Given the description of an element on the screen output the (x, y) to click on. 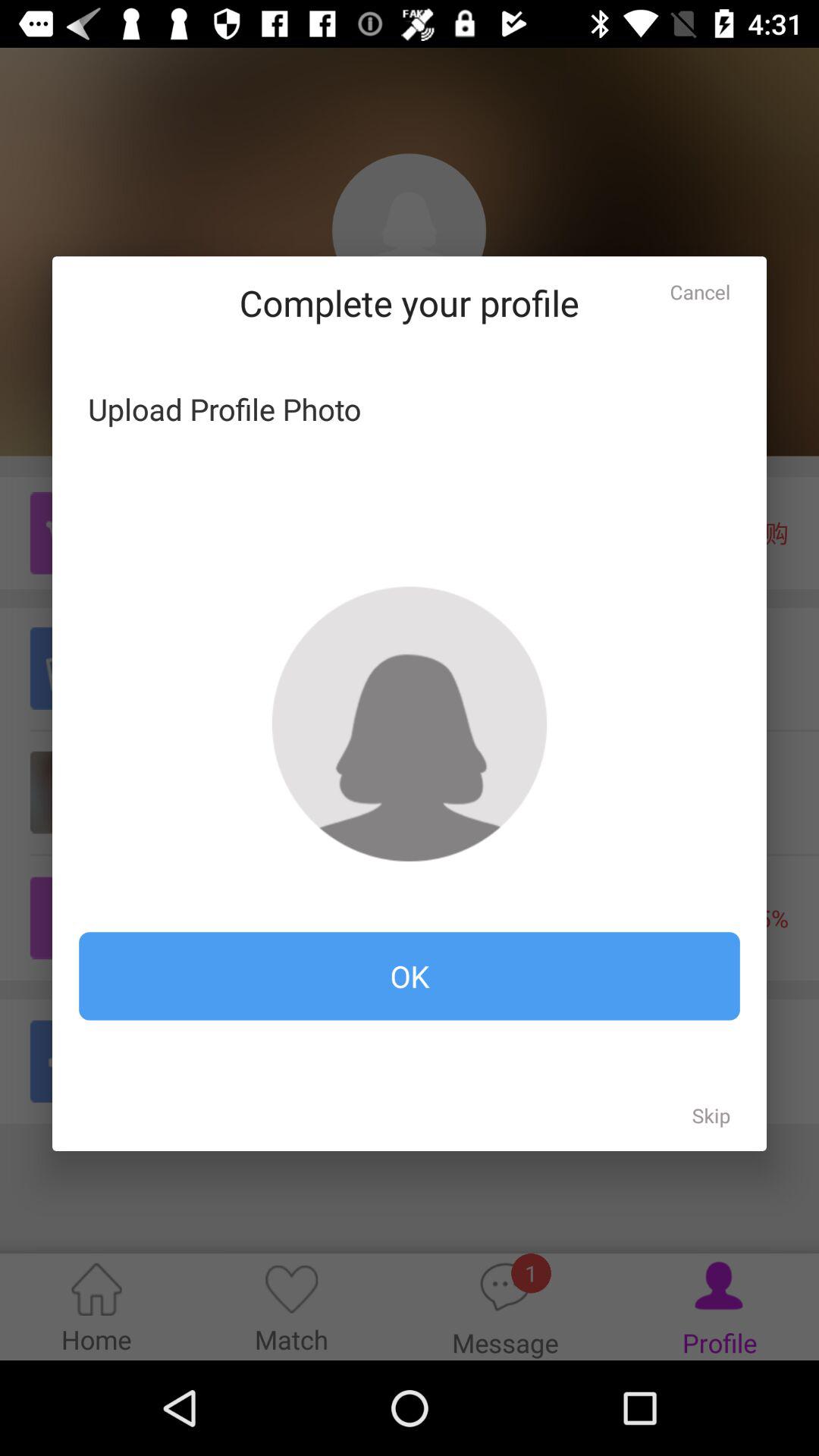
tap the item next to the complete your profile item (700, 291)
